Given the description of an element on the screen output the (x, y) to click on. 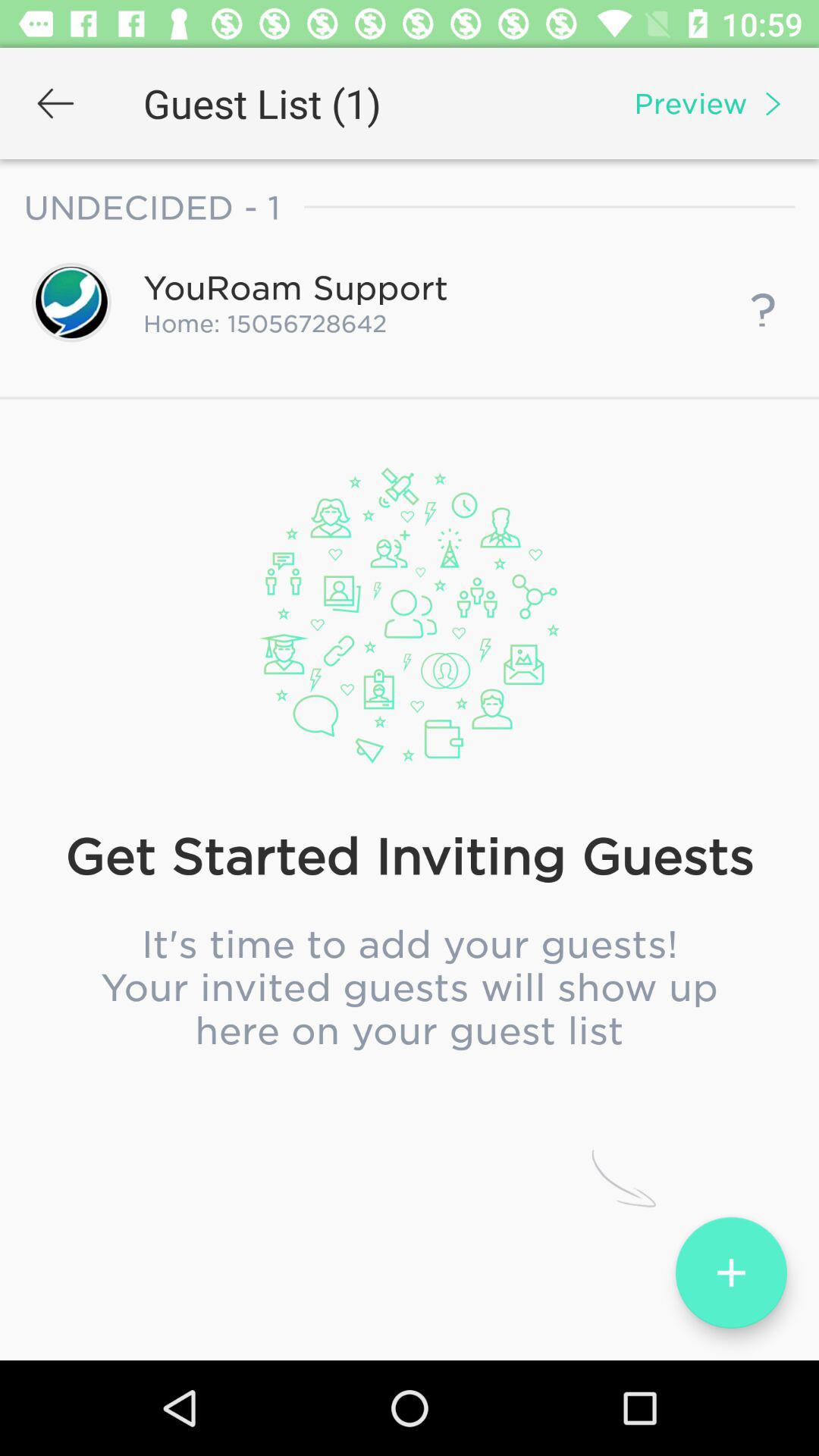
choose the optional end date icon (409, 709)
